Given the description of an element on the screen output the (x, y) to click on. 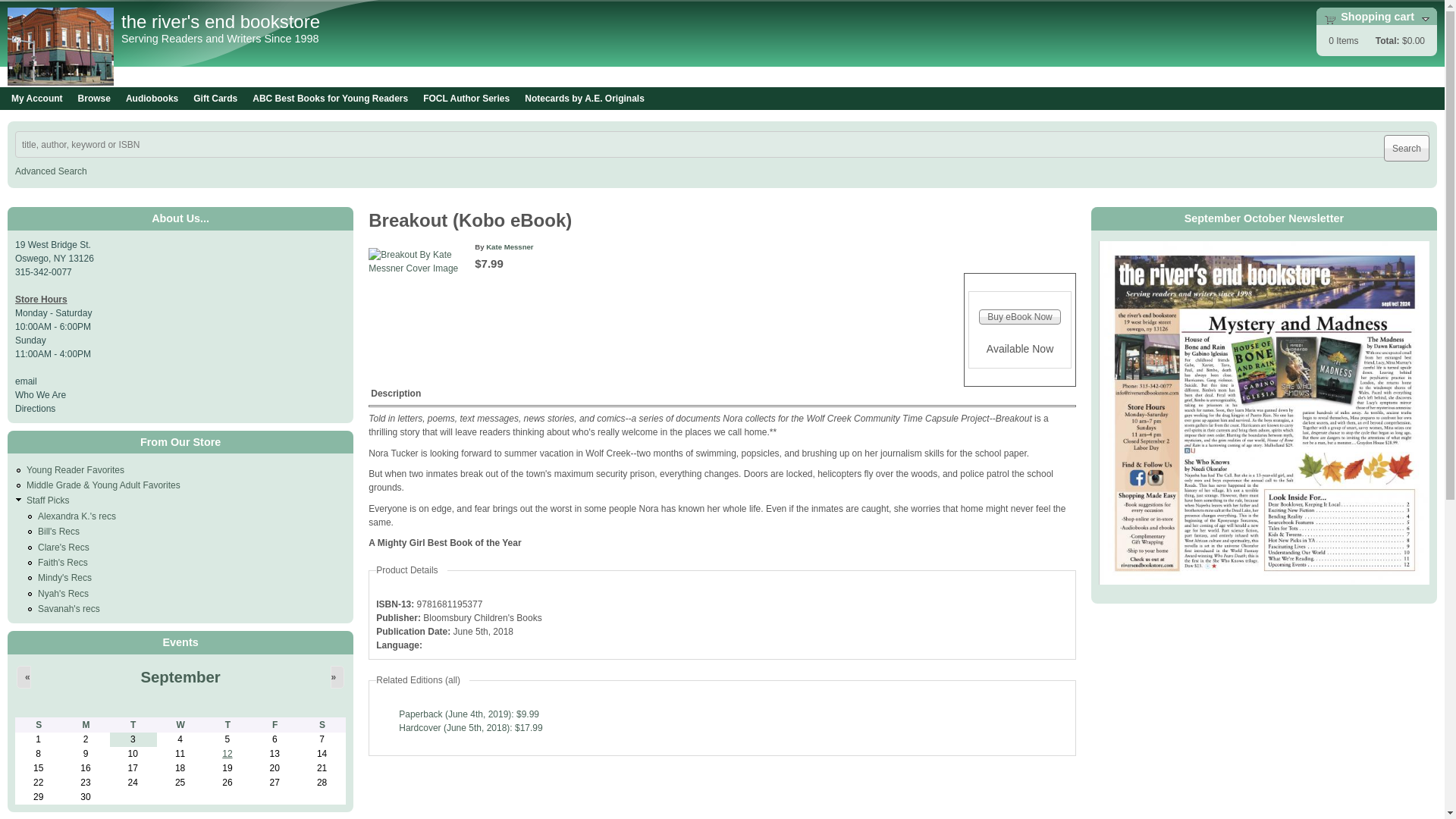
Nyah's Recs (62, 593)
12 (226, 753)
Purchase a gift card here (215, 98)
FOCL Author Series (465, 98)
Alexandra K.'s recs (76, 516)
Gift Cards (215, 98)
View full page month (179, 677)
My Account (36, 98)
Buy eBook Now (1018, 316)
